Given the description of an element on the screen output the (x, y) to click on. 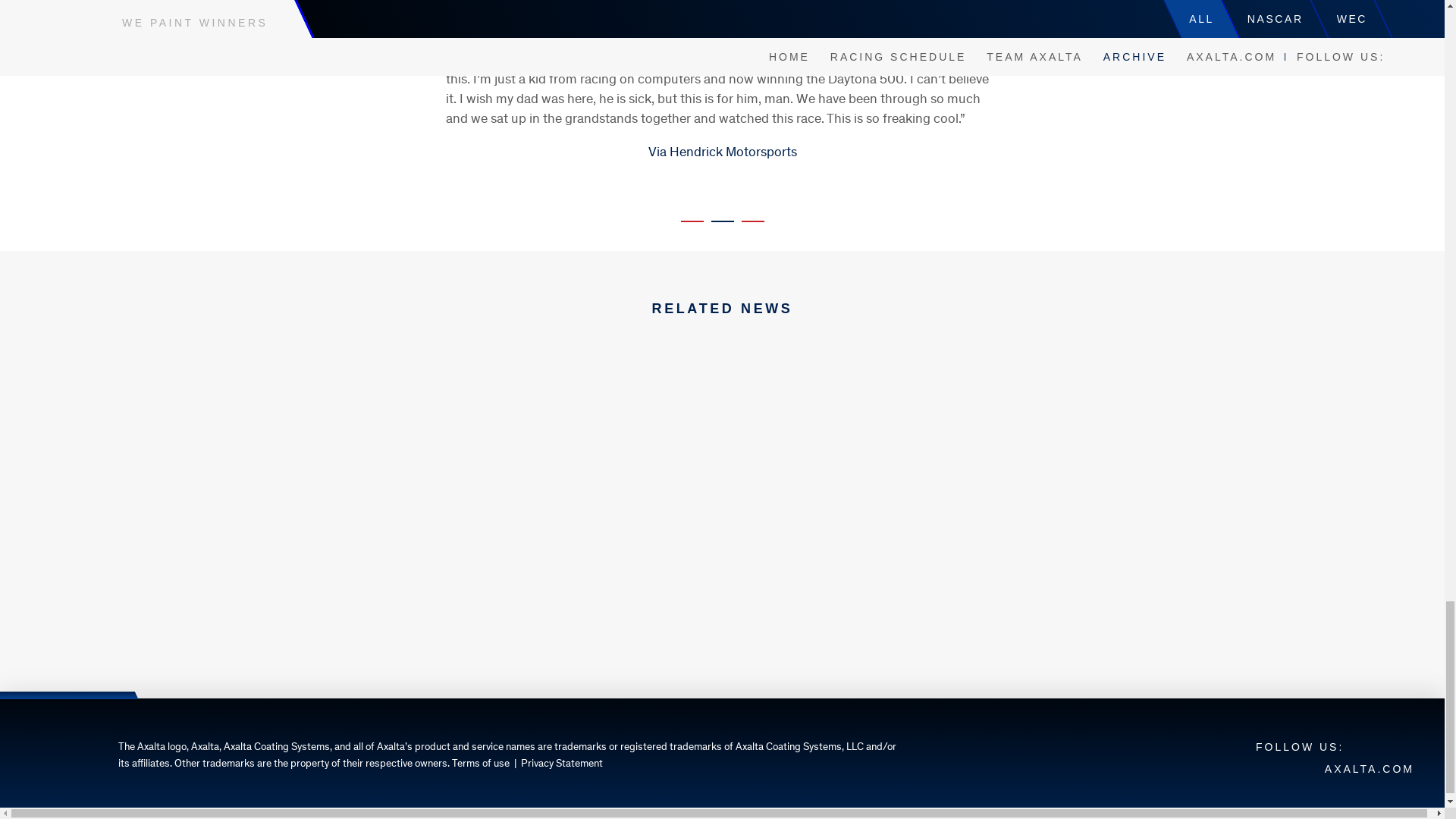
AXALTA.COM (1368, 768)
Via Hendrick Motorsports (721, 152)
Terms of use (480, 764)
Privacy Statement (561, 764)
